Given the description of an element on the screen output the (x, y) to click on. 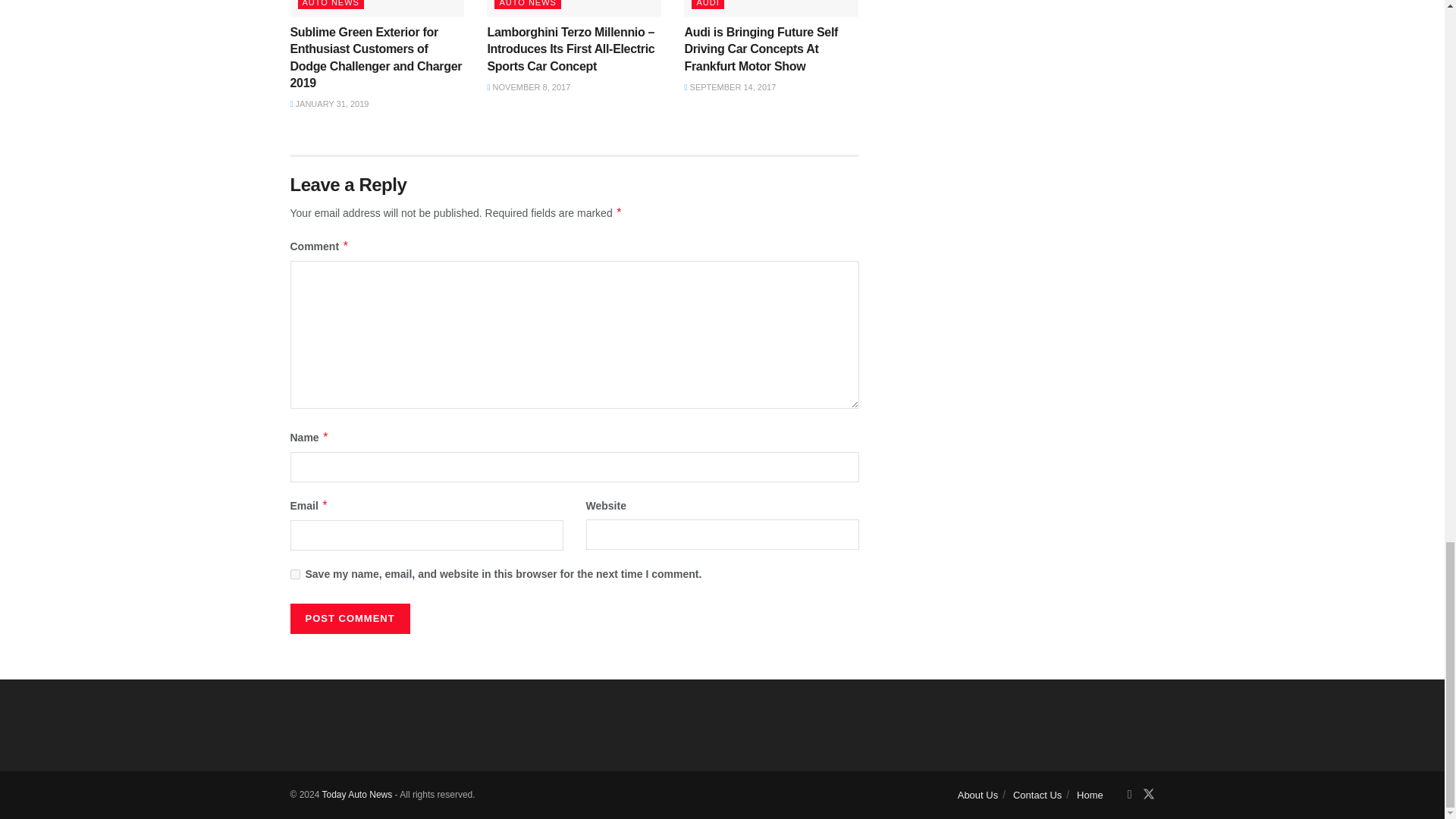
Post Comment (349, 618)
Today Auto News (356, 794)
yes (294, 574)
